Given the description of an element on the screen output the (x, y) to click on. 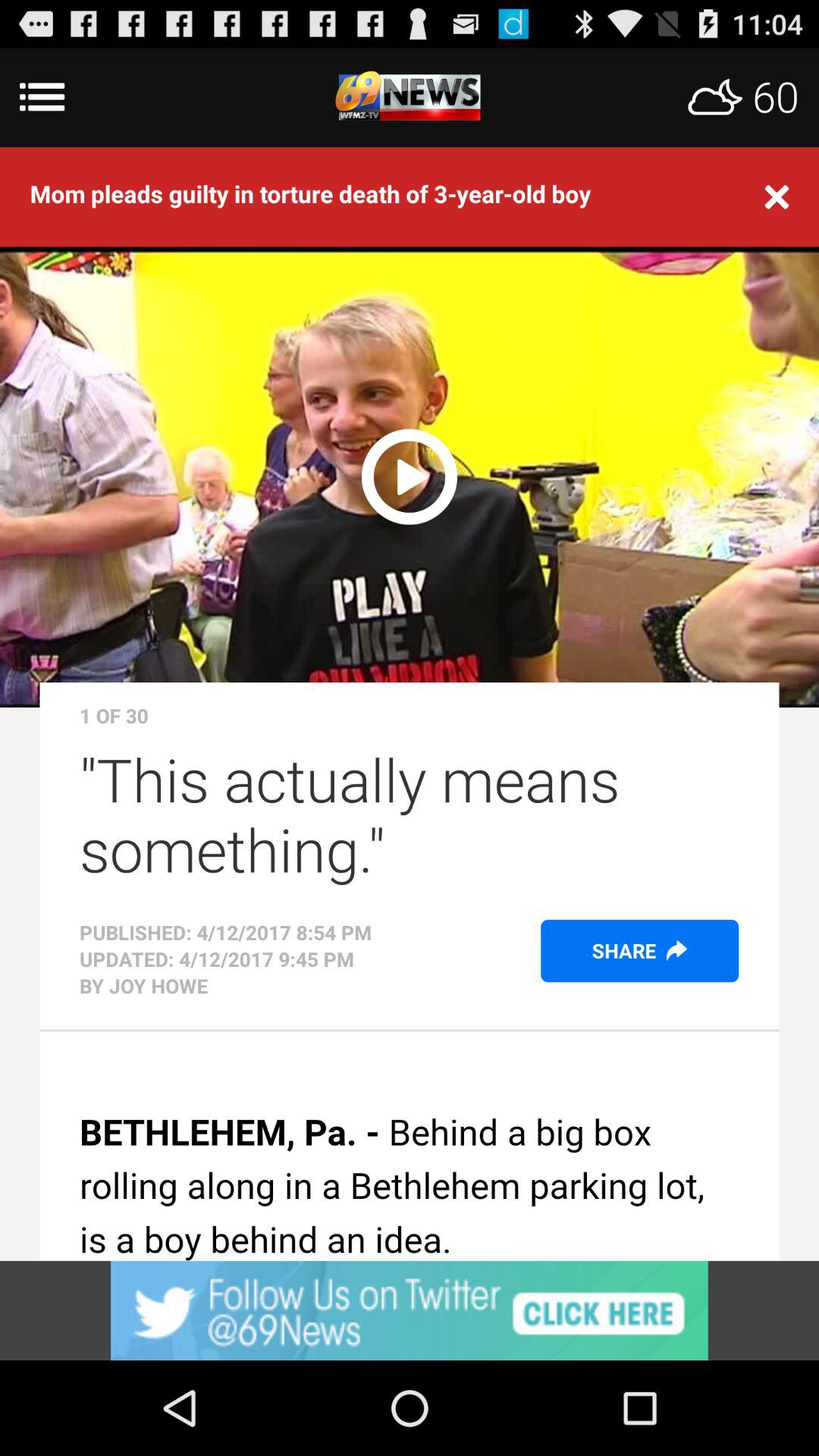
open webpage of displayed advertisement (409, 1310)
